Given the description of an element on the screen output the (x, y) to click on. 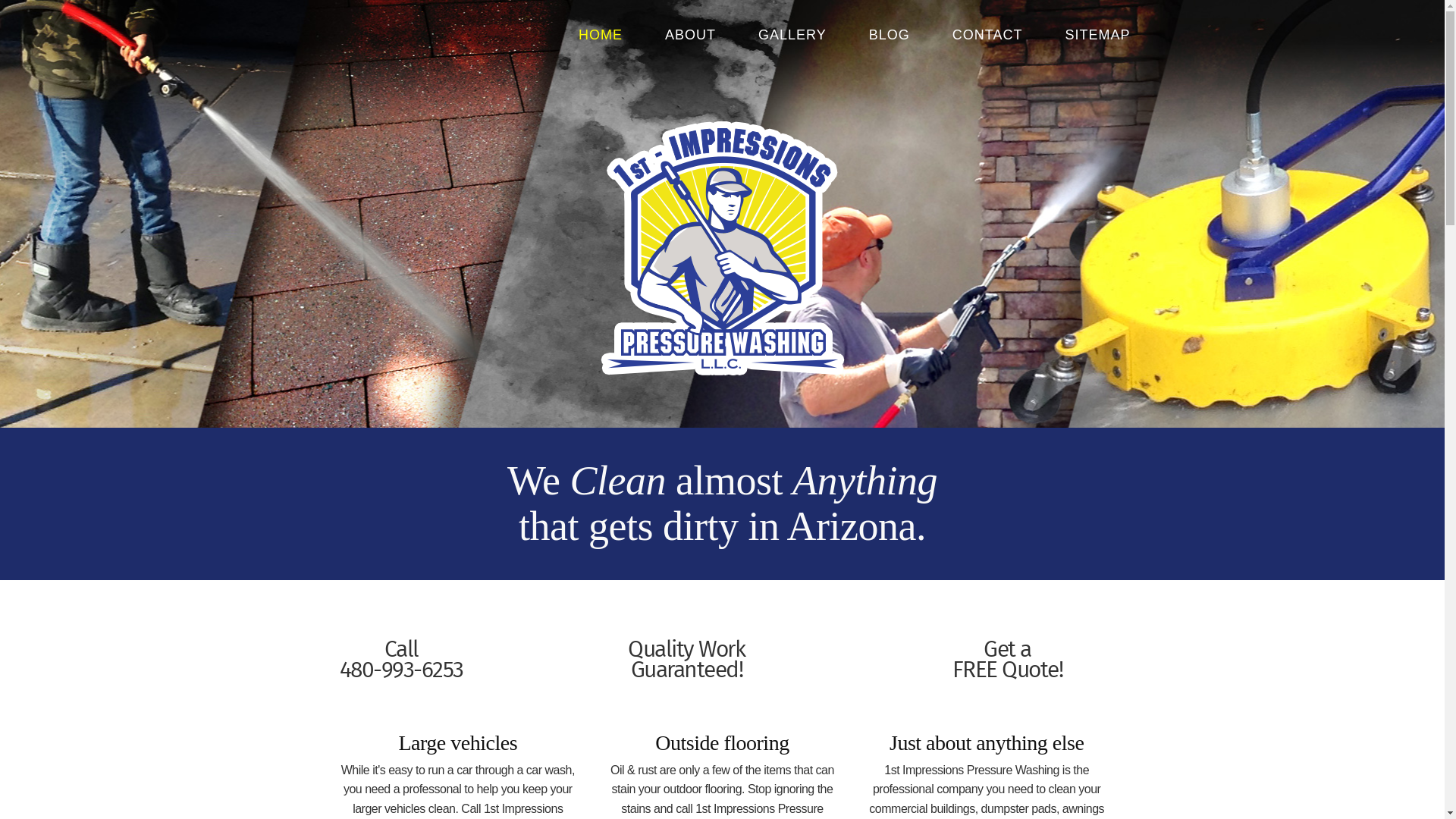
Get a
FREE Quote! Element type: text (1007, 661)
SITEMAP Element type: text (1097, 33)
ABOUT Element type: text (689, 33)
GALLERY Element type: text (792, 33)
1st Impressions Pressure Washing LLC Element type: text (326, 34)
CONTACT Element type: text (987, 33)
HOME Element type: text (600, 33)
BLOG Element type: text (889, 33)
1st Impressions Pressure Washing Element type: hover (722, 247)
